Given the description of an element on the screen output the (x, y) to click on. 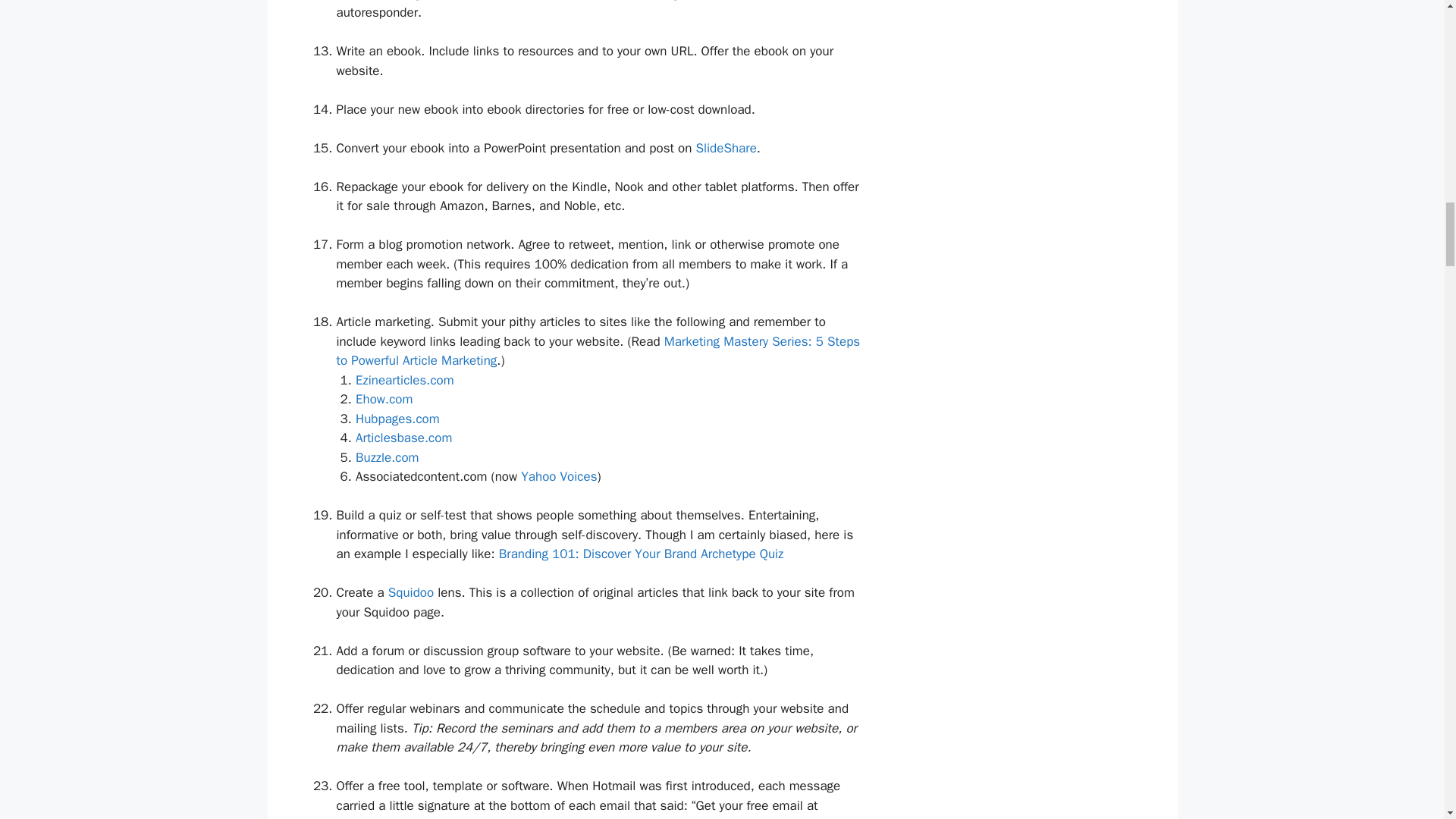
SlideShare (725, 148)
Hubpages.com (397, 418)
Articlesbase.com (403, 437)
Buzzle.com (387, 457)
EzineArticles (404, 380)
Branding 101: Discover Your Brand Archetype Quiz (641, 553)
Yahoo Voices (558, 476)
HubPages (397, 418)
Articlesbase (403, 437)
SlideShare (725, 148)
Squidoo (410, 592)
Ezinearticles.com (404, 380)
Ehow (383, 399)
